Given the description of an element on the screen output the (x, y) to click on. 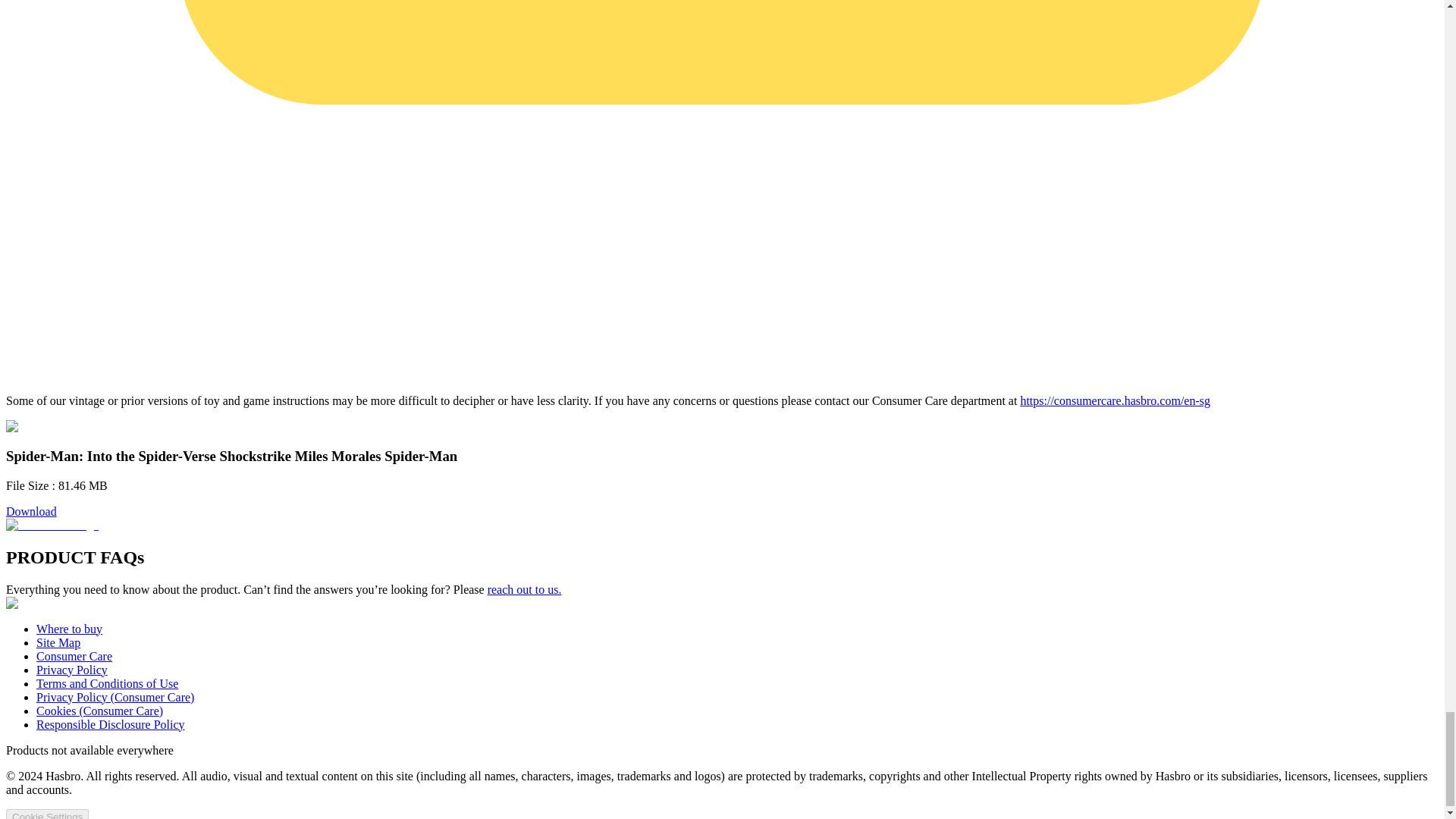
Responsible Disclosure Policy (110, 724)
Consumer Care (74, 656)
Site Map (58, 642)
reach out to us. (524, 589)
Terms and Conditions of Use (106, 683)
Where to buy (68, 628)
Privacy Policy (71, 669)
